Given the description of an element on the screen output the (x, y) to click on. 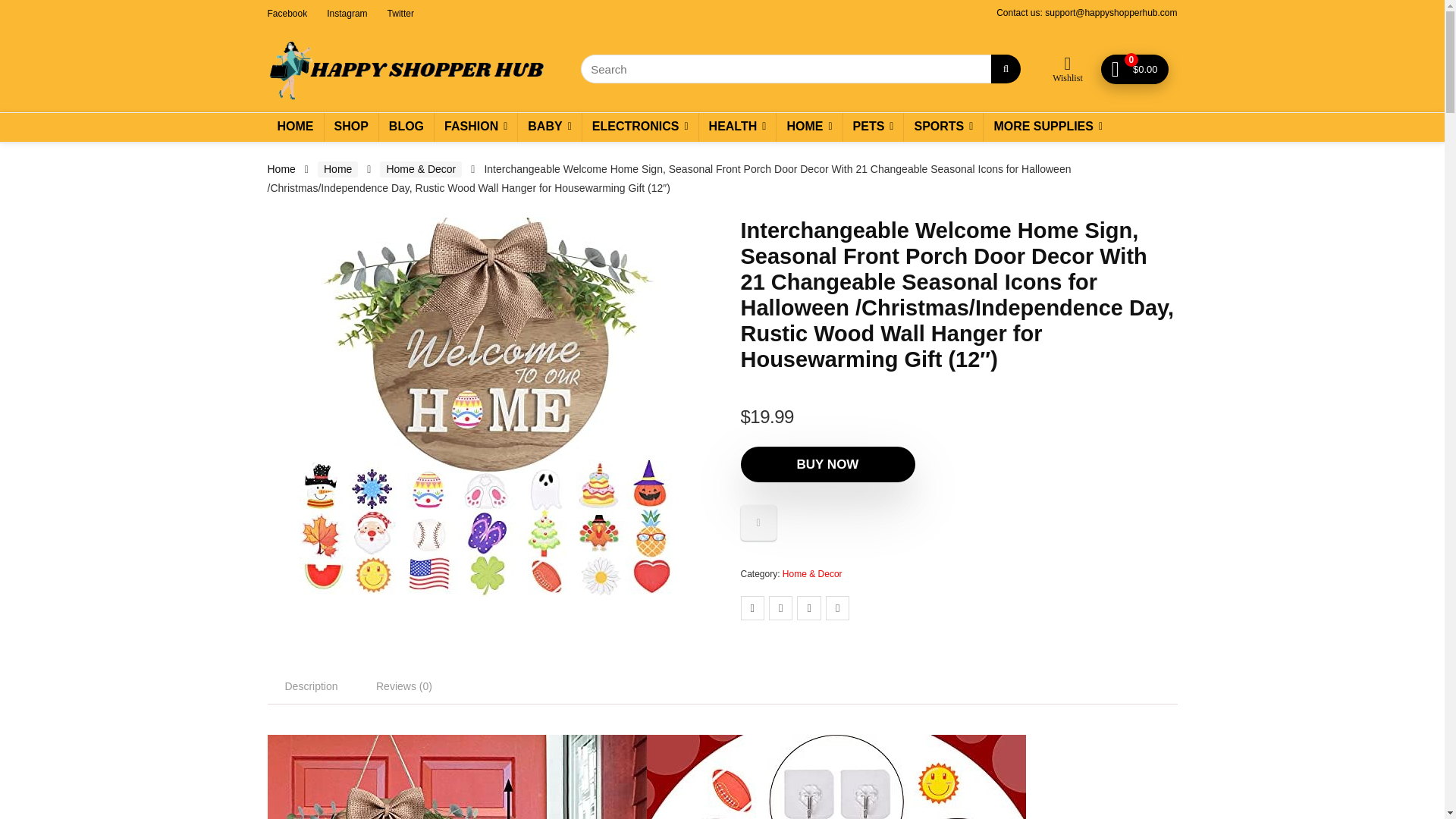
Facebook (286, 12)
HOME (294, 126)
PETS (873, 126)
Instagram (346, 12)
FASHION (474, 126)
BABY (549, 126)
BLOG (405, 126)
HOME (808, 126)
ELECTRONICS (640, 126)
Twitter (400, 12)
SHOP (351, 126)
HEALTH (737, 126)
